Given the description of an element on the screen output the (x, y) to click on. 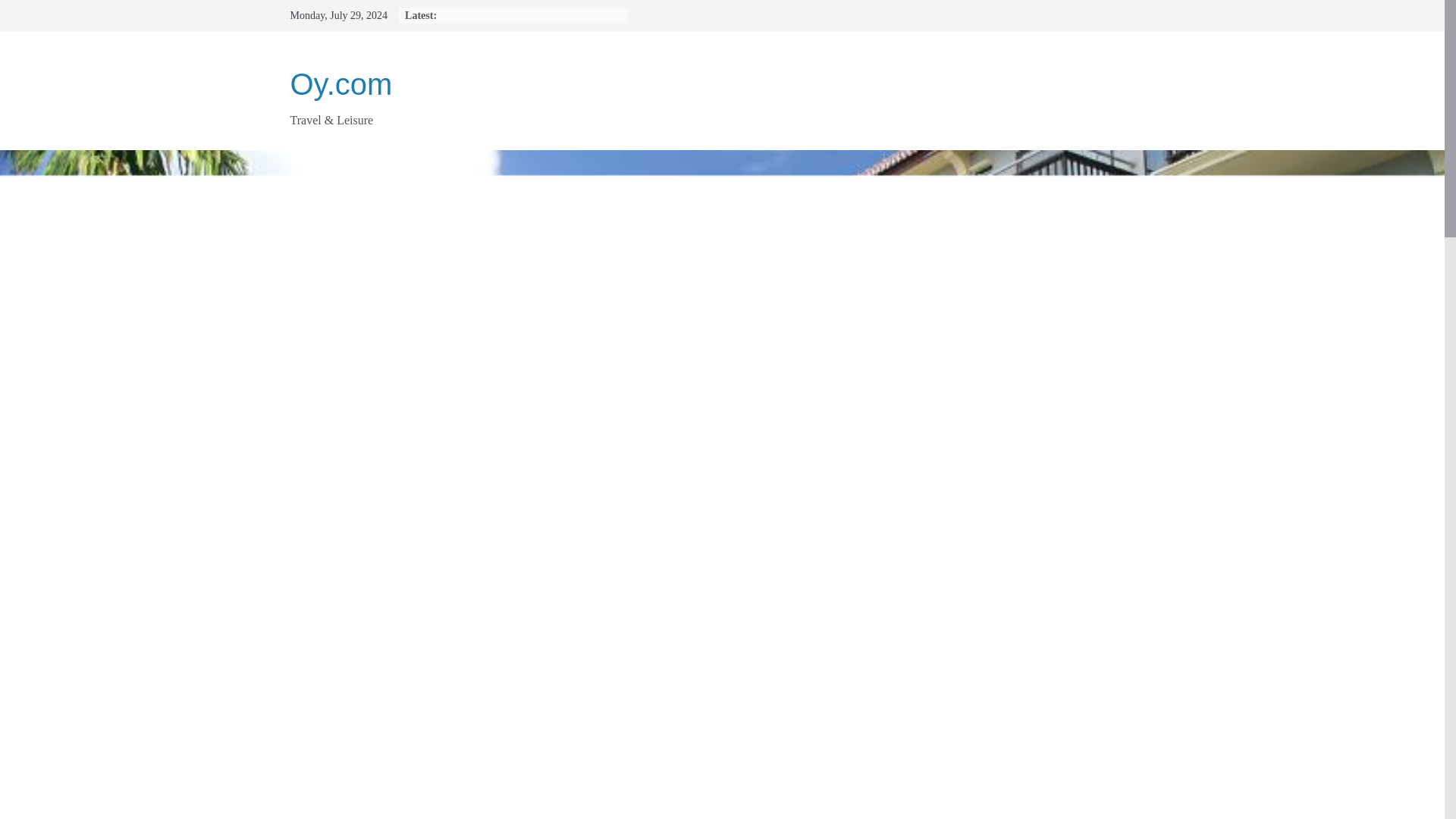
Oy.com (340, 83)
Oy.com (340, 83)
